Given the description of an element on the screen output the (x, y) to click on. 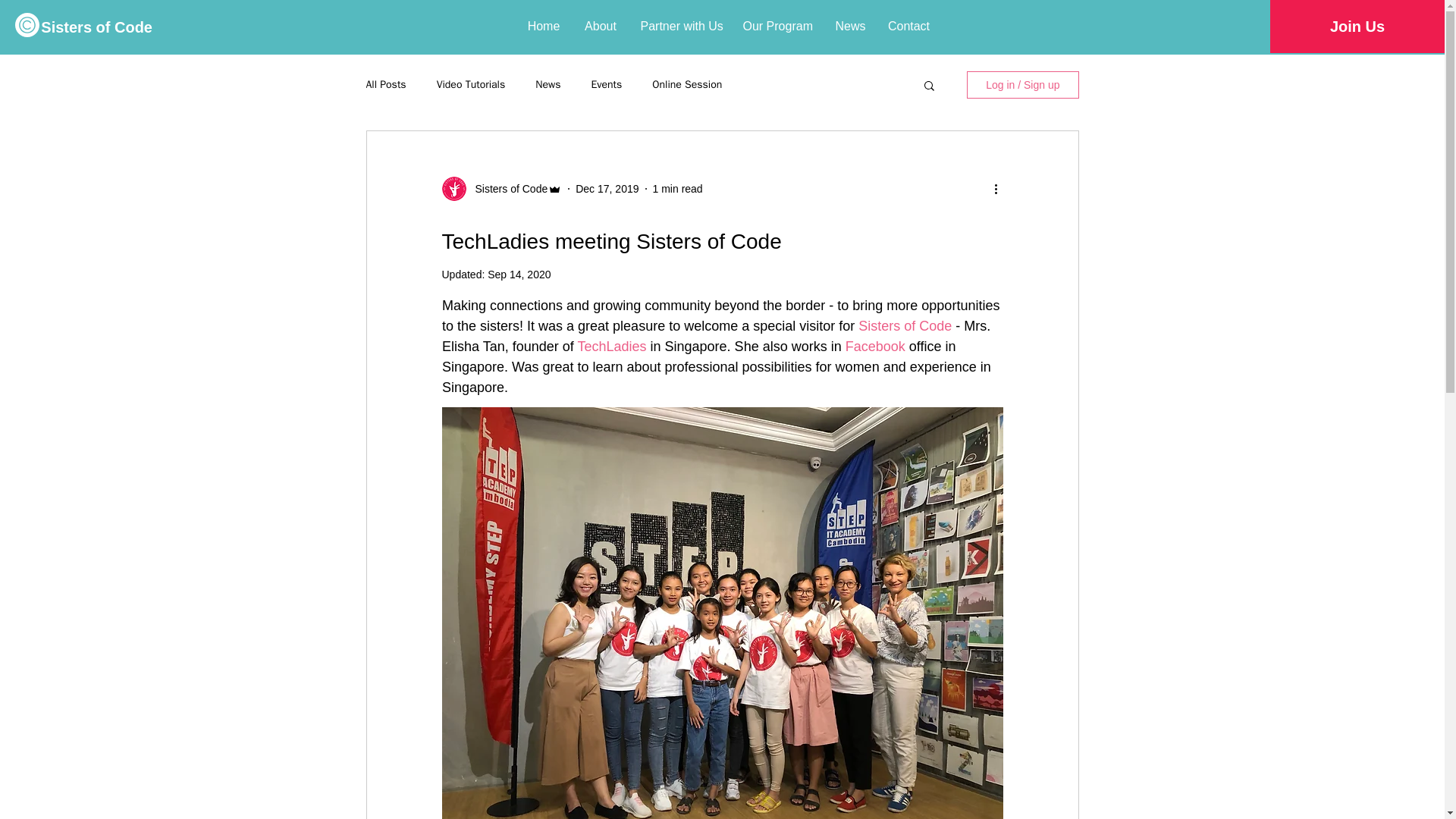
Partner with Us (680, 26)
TechLadies (611, 346)
Home (543, 26)
News (850, 26)
1 min read (677, 187)
News (547, 84)
Sisters of Code (905, 325)
Online Session (687, 84)
Events (607, 84)
Contact (909, 26)
